Given the description of an element on the screen output the (x, y) to click on. 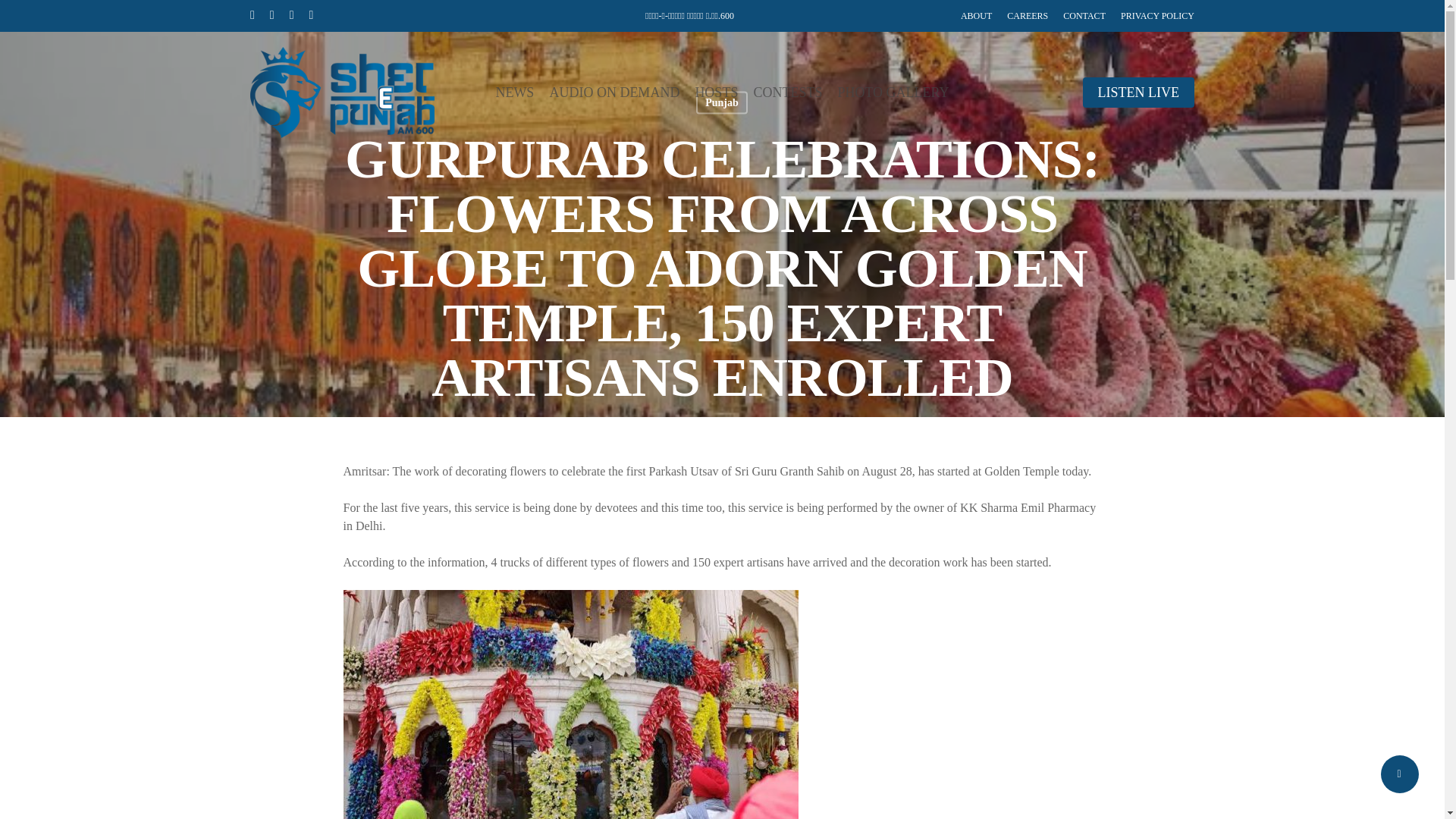
HOSTS (716, 92)
LISTEN LIVE (1138, 92)
PHOTO GALLERY (893, 92)
Punjab (721, 101)
AUDIO ON DEMAND (613, 92)
PRIVACY POLICY (1157, 15)
ABOUT (975, 15)
CONTESTS (787, 92)
NEWS (514, 92)
CONTACT (1083, 15)
CAREERS (1027, 15)
